Given the description of an element on the screen output the (x, y) to click on. 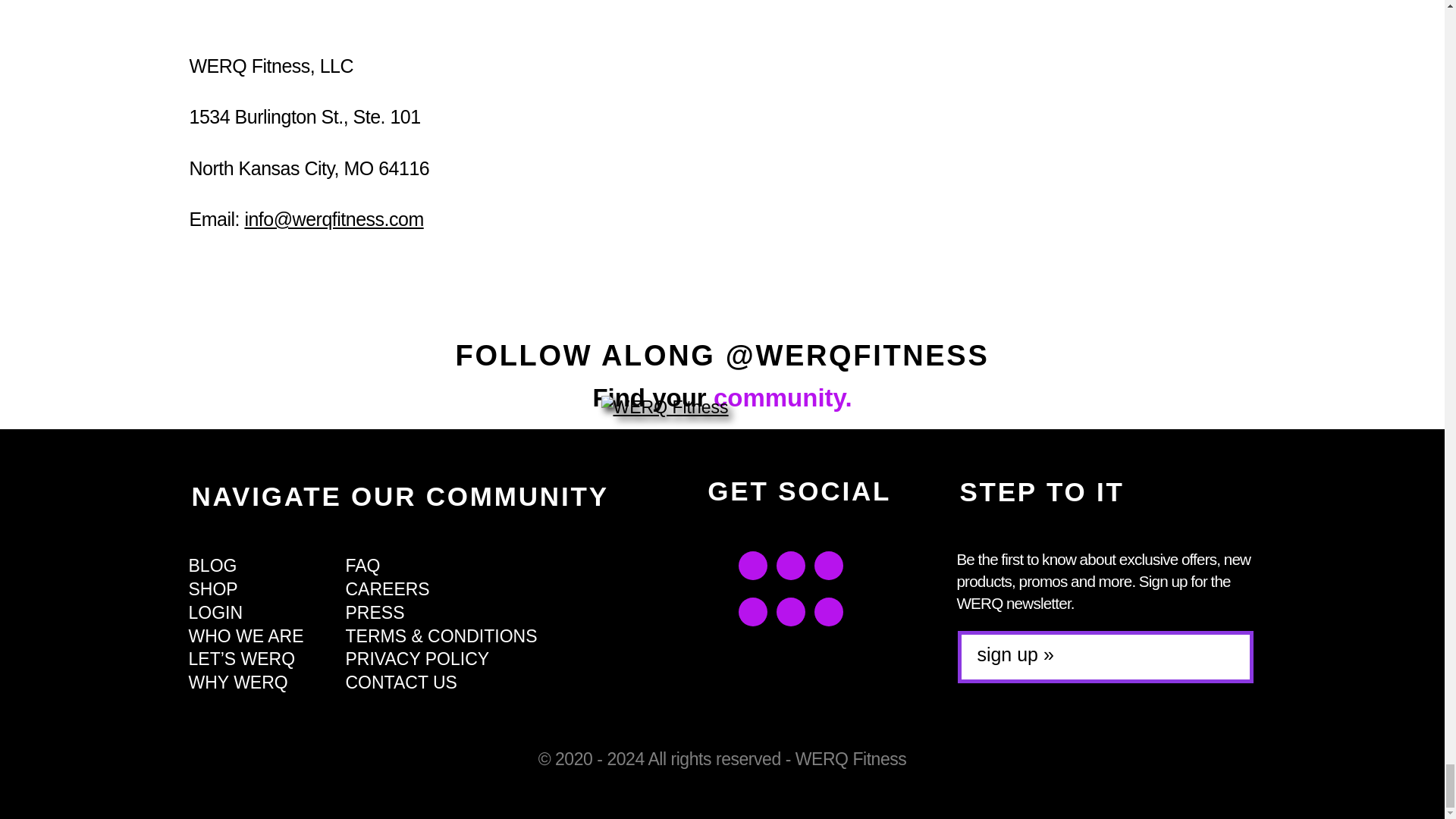
Instagram (752, 611)
WHO WE ARE (259, 636)
PRIVACY POLICY (441, 658)
LOGIN (259, 612)
Youtube (790, 611)
Twitter (790, 565)
WHY WERQ (259, 682)
Pinterest (828, 565)
Facebook (752, 565)
WERQ Fitness (721, 407)
